Given the description of an element on the screen output the (x, y) to click on. 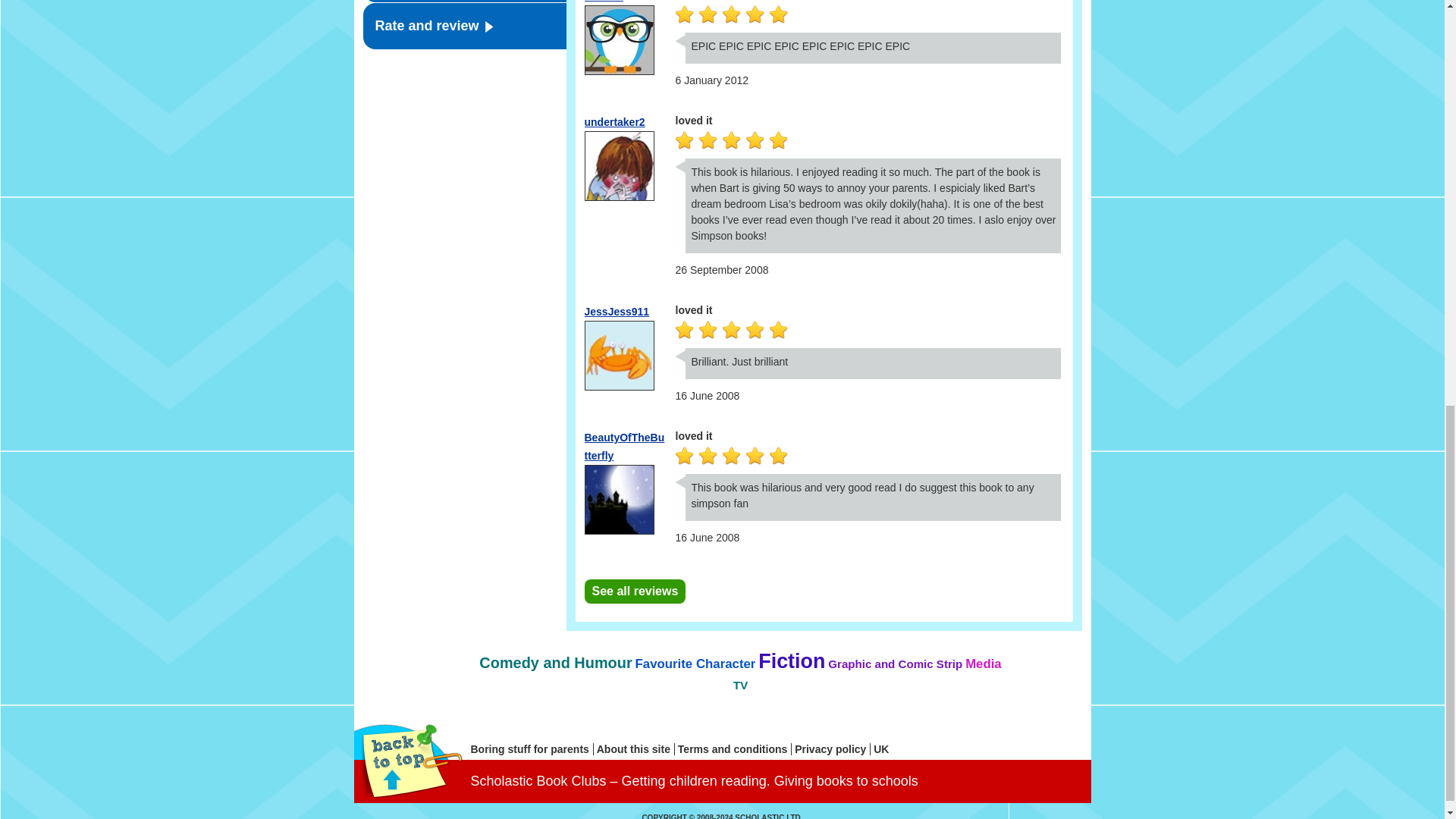
BeautyOfTheButterfly (623, 446)
See all reviews (634, 591)
undertaker2 (614, 121)
Rate and review (464, 26)
JessJess911 (616, 311)
lbs2000 (603, 1)
Authors (464, 1)
